Given the description of an element on the screen output the (x, y) to click on. 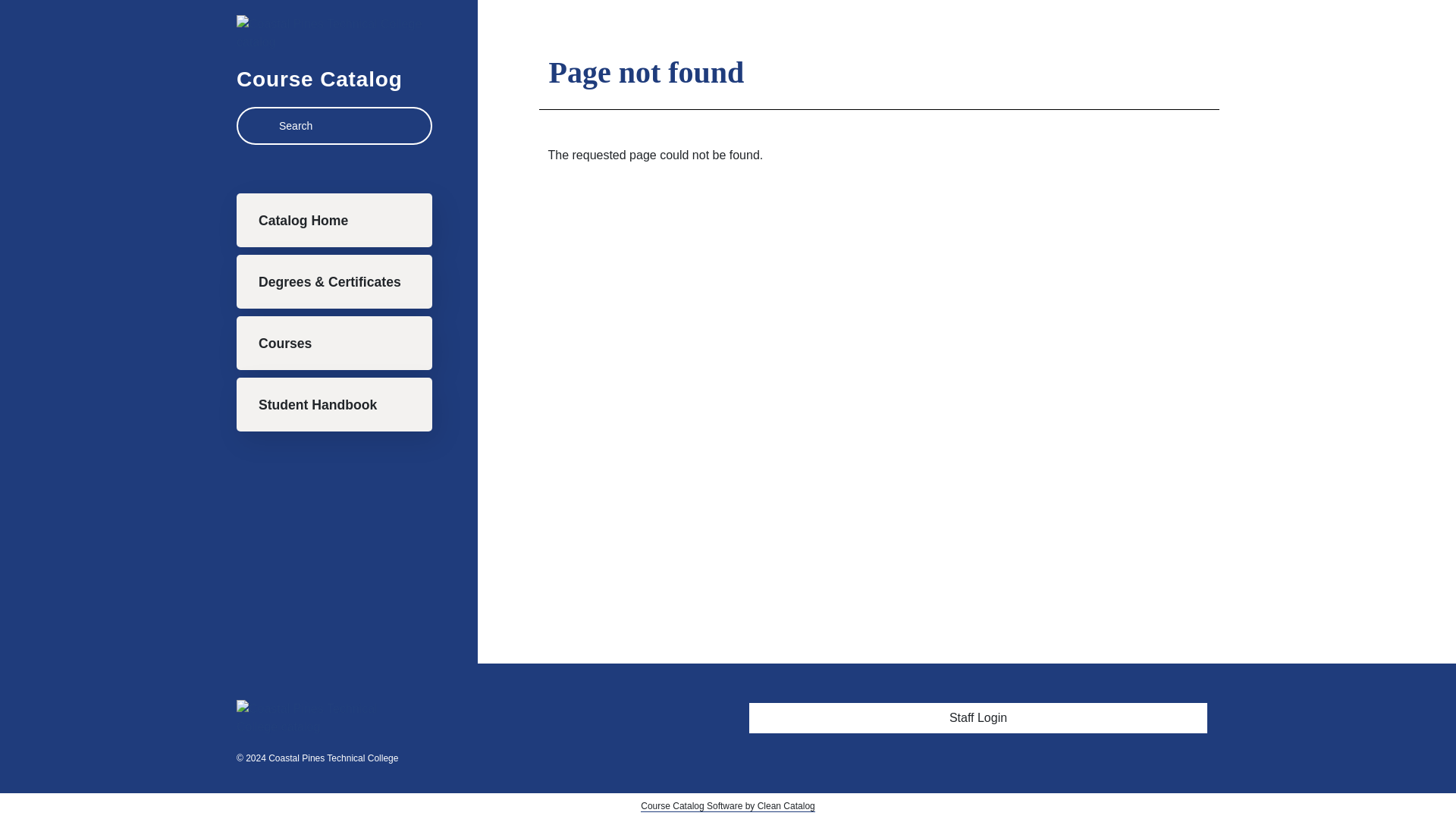
Staff Login (978, 717)
Search (260, 124)
Search (260, 124)
Student Handbook (333, 404)
Courses (333, 343)
Catalog Home (333, 220)
Course Catalog Software by Clean Catalog (726, 806)
